Given the description of an element on the screen output the (x, y) to click on. 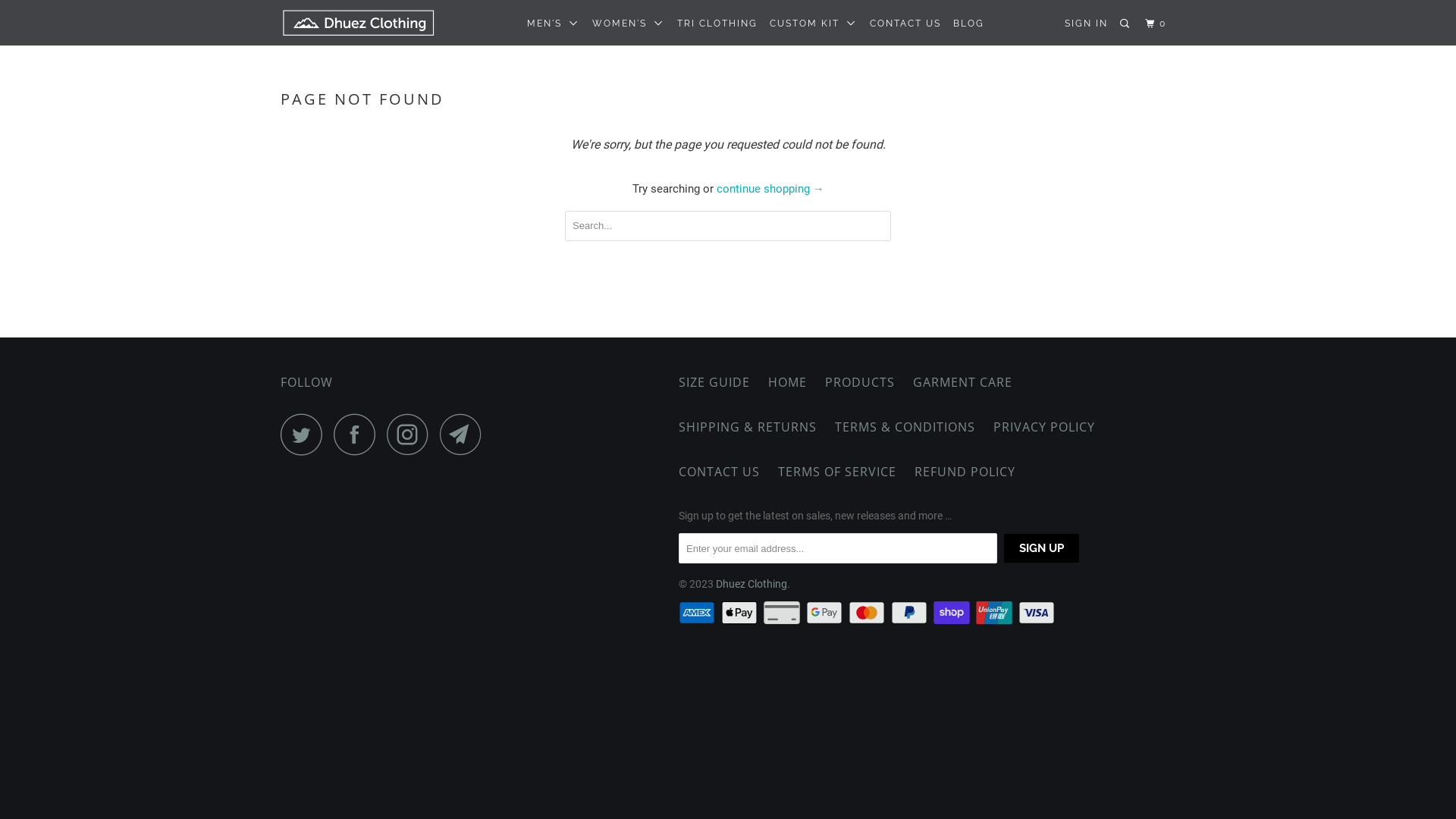
CUSTOM KIT   Element type: text (813, 23)
CONTACT US Element type: text (905, 23)
Dhuez Clothing Element type: text (751, 583)
WOMEN'S   Element type: text (628, 23)
TERMS & CONDITIONS Element type: text (904, 427)
GARMENT CARE Element type: text (962, 382)
BLOG Element type: text (968, 23)
Sign Up Element type: text (1041, 547)
Email Dhuez Clothing Element type: hover (464, 434)
Dhuez Clothing Element type: hover (358, 22)
MEN'S   Element type: text (553, 23)
Dhuez Clothing on Instagram Element type: hover (411, 434)
SIGN IN Element type: text (1085, 23)
PRIVACY POLICY Element type: text (1044, 427)
PRODUCTS Element type: text (859, 382)
0 Element type: text (1157, 23)
Dhuez Clothing on Twitter Element type: hover (305, 434)
SIZE GUIDE Element type: text (713, 382)
Dhuez Clothing on Facebook Element type: hover (358, 434)
CONTACT US Element type: text (718, 471)
HOME Element type: text (787, 382)
TRI CLOTHING Element type: text (717, 23)
TERMS OF SERVICE Element type: text (837, 471)
SHIPPING & RETURNS Element type: text (747, 427)
REFUND POLICY Element type: text (964, 471)
Search Element type: hover (1126, 23)
